Given the description of an element on the screen output the (x, y) to click on. 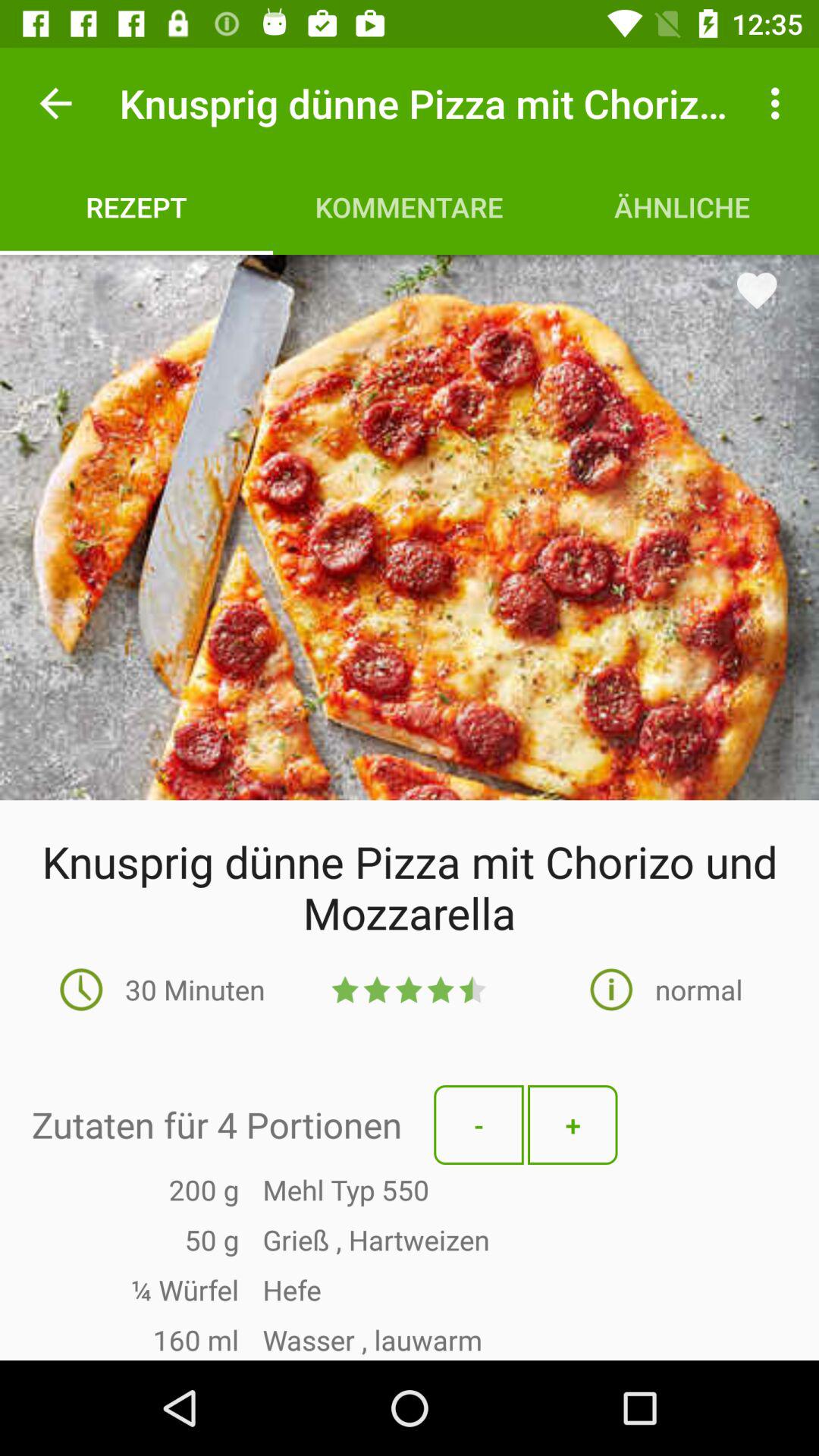
launch the item below the rezept (409, 527)
